Given the description of an element on the screen output the (x, y) to click on. 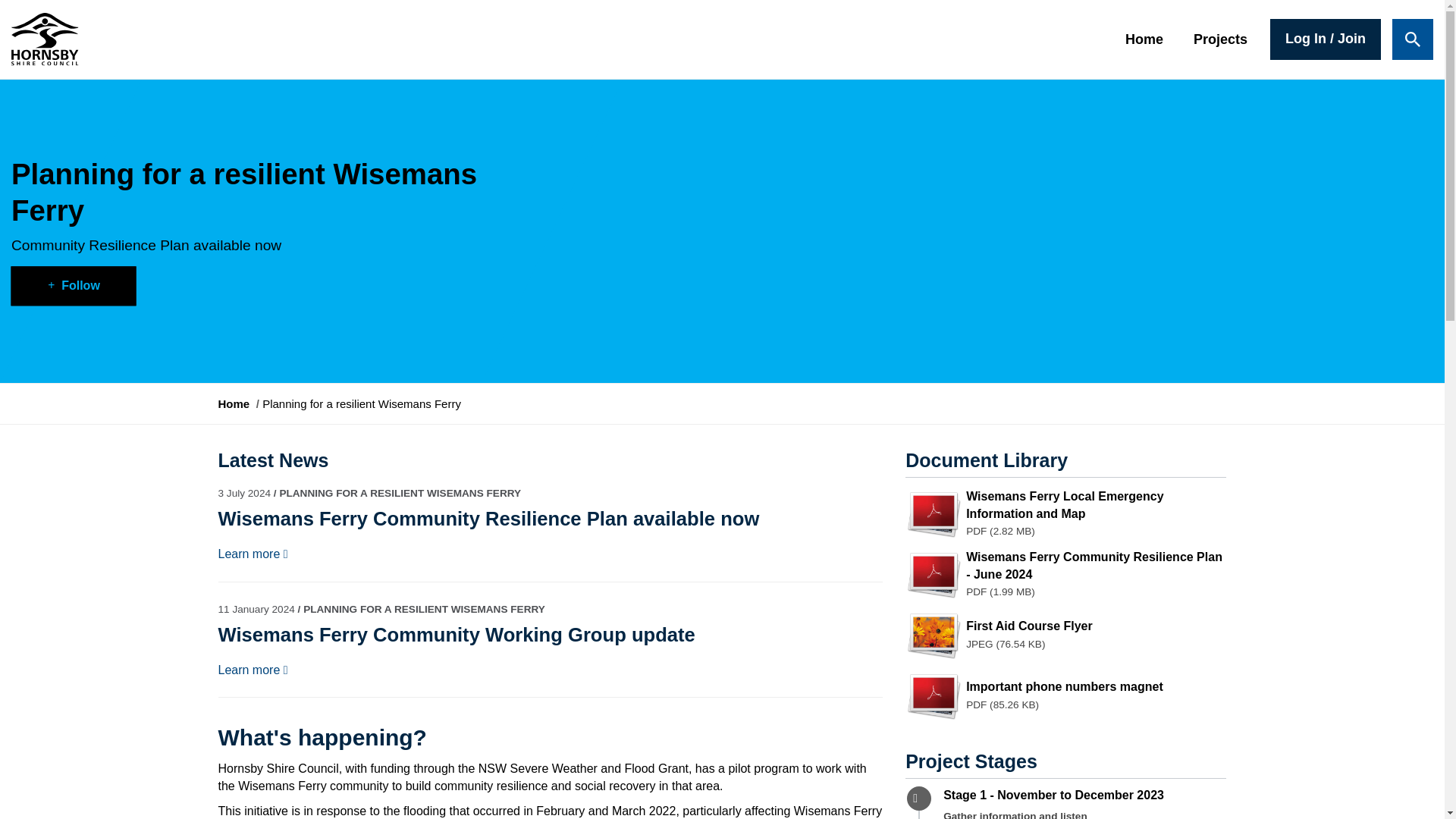
  Follow (73, 285)
Learn more (249, 669)
Learn more (249, 553)
Home (234, 403)
Home (1144, 39)
Home (234, 403)
Projects (1220, 39)
Search (1411, 38)
